Given the description of an element on the screen output the (x, y) to click on. 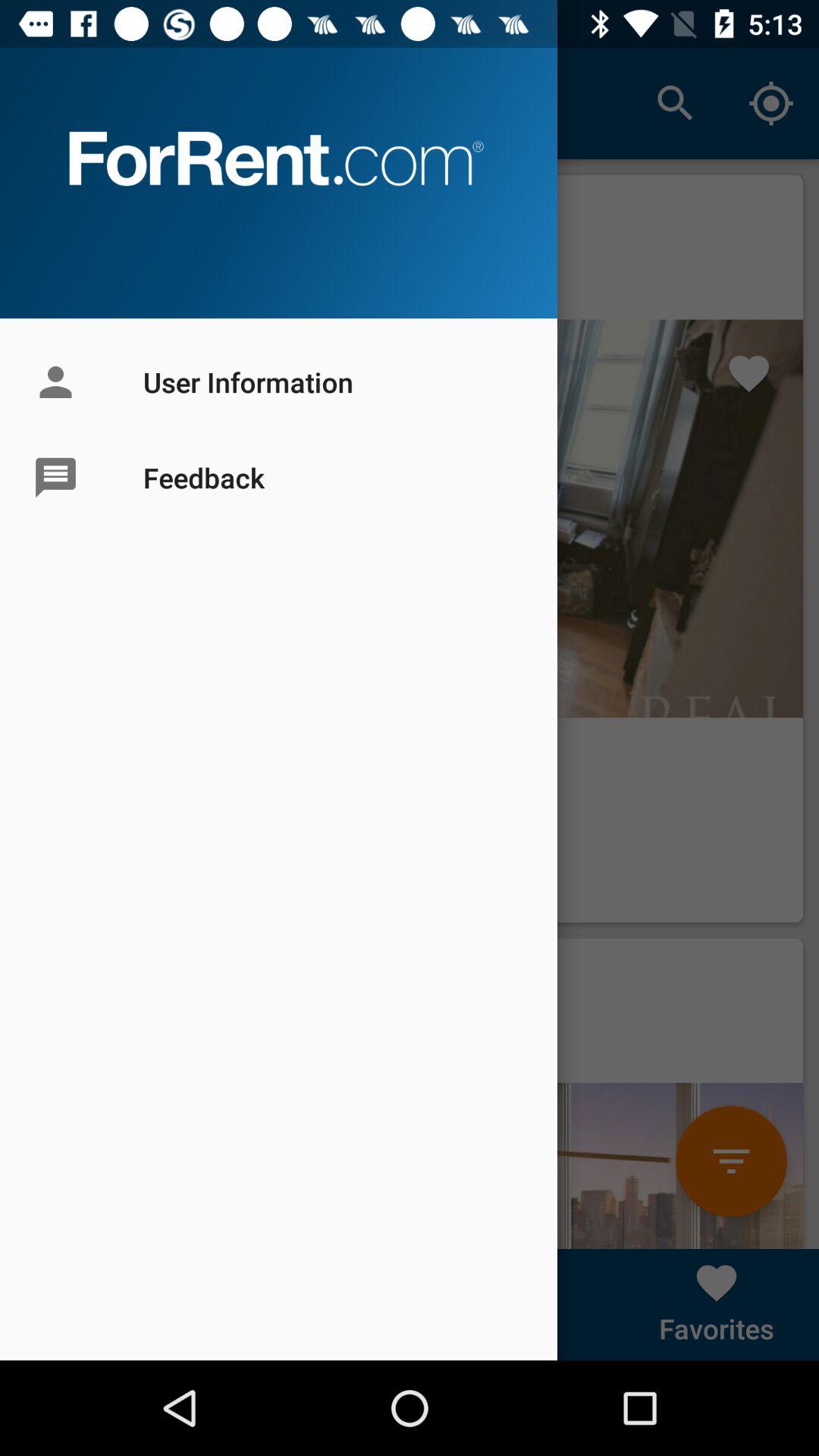
go to favorites (716, 1304)
